Given the description of an element on the screen output the (x, y) to click on. 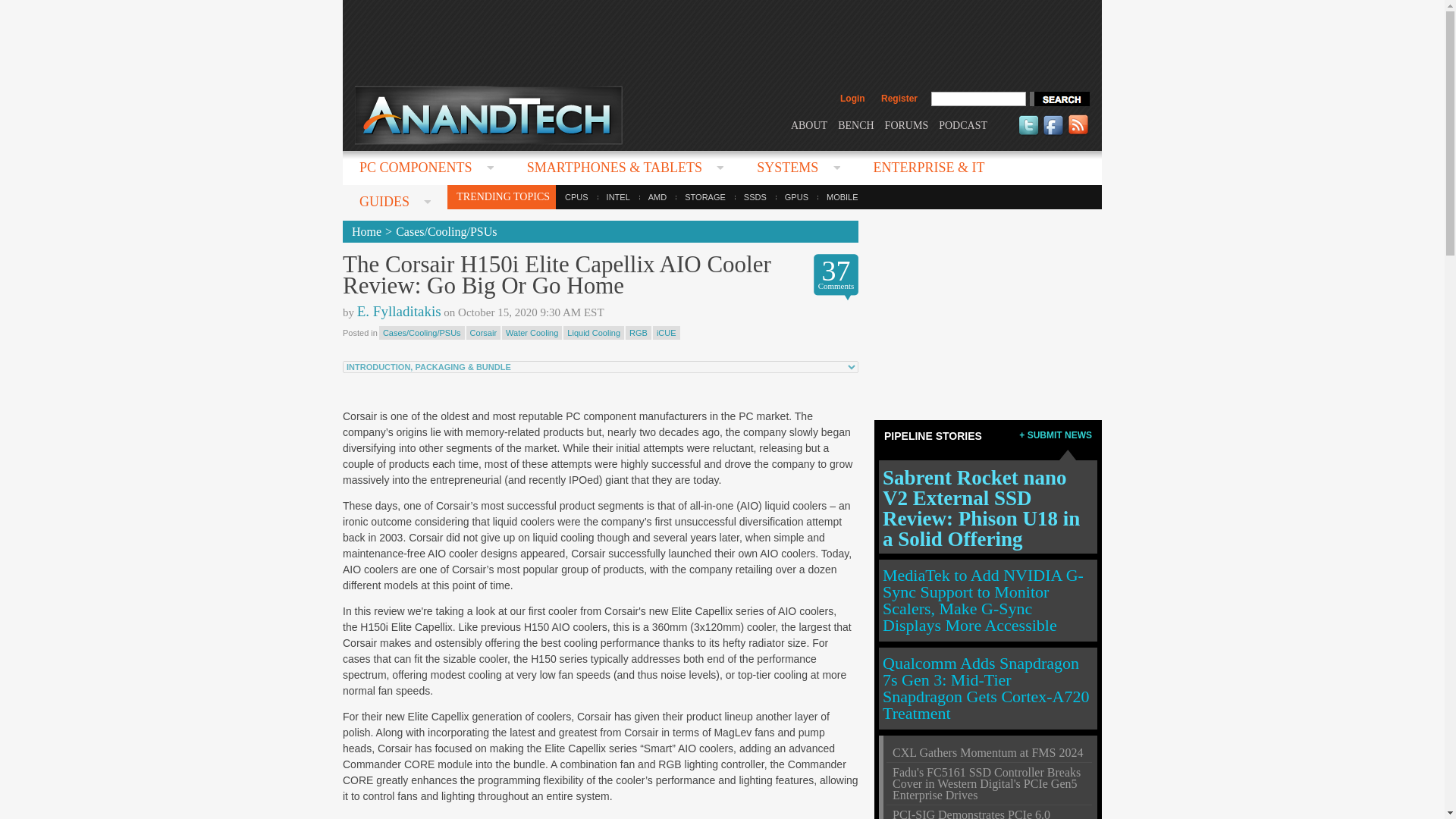
Register (898, 98)
search (1059, 98)
search (1059, 98)
ABOUT (808, 125)
BENCH (855, 125)
FORUMS (906, 125)
search (1059, 98)
Login (852, 98)
PODCAST (963, 125)
